Given the description of an element on the screen output the (x, y) to click on. 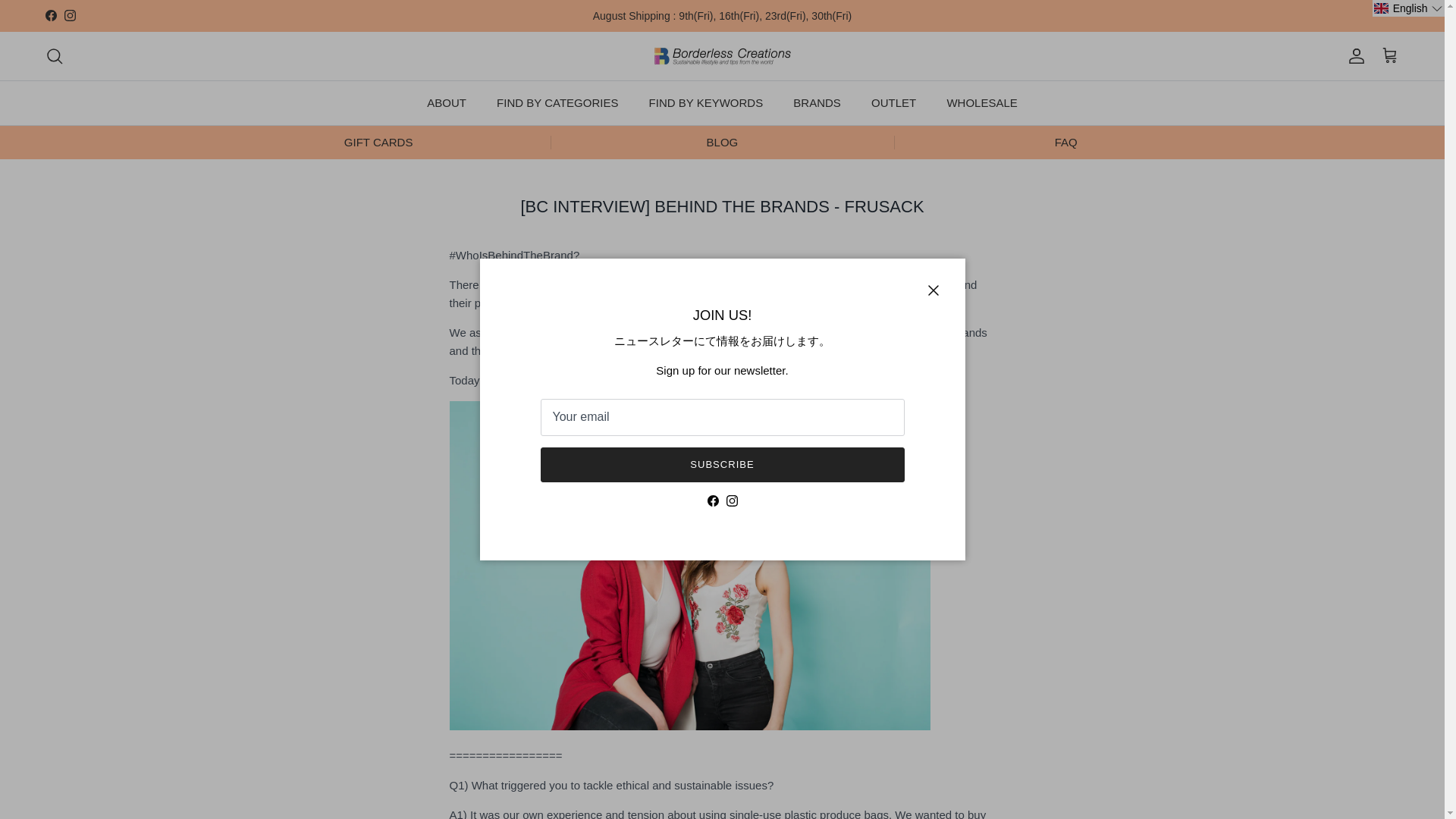
Search (54, 55)
WHOLESALE (981, 103)
Borderless Creations on Instagram (69, 15)
Borderless Creations on Facebook (50, 15)
Borderless Creations on Facebook (711, 500)
Borderless Creations (721, 55)
ABOUT (446, 103)
Facebook (50, 15)
Account (1352, 55)
FIND BY CATEGORIES (557, 103)
BRANDS (816, 103)
FIND BY KEYWORDS (705, 103)
OUTLET (893, 103)
Instagram (69, 15)
Borderless Creations on Instagram (732, 500)
